Given the description of an element on the screen output the (x, y) to click on. 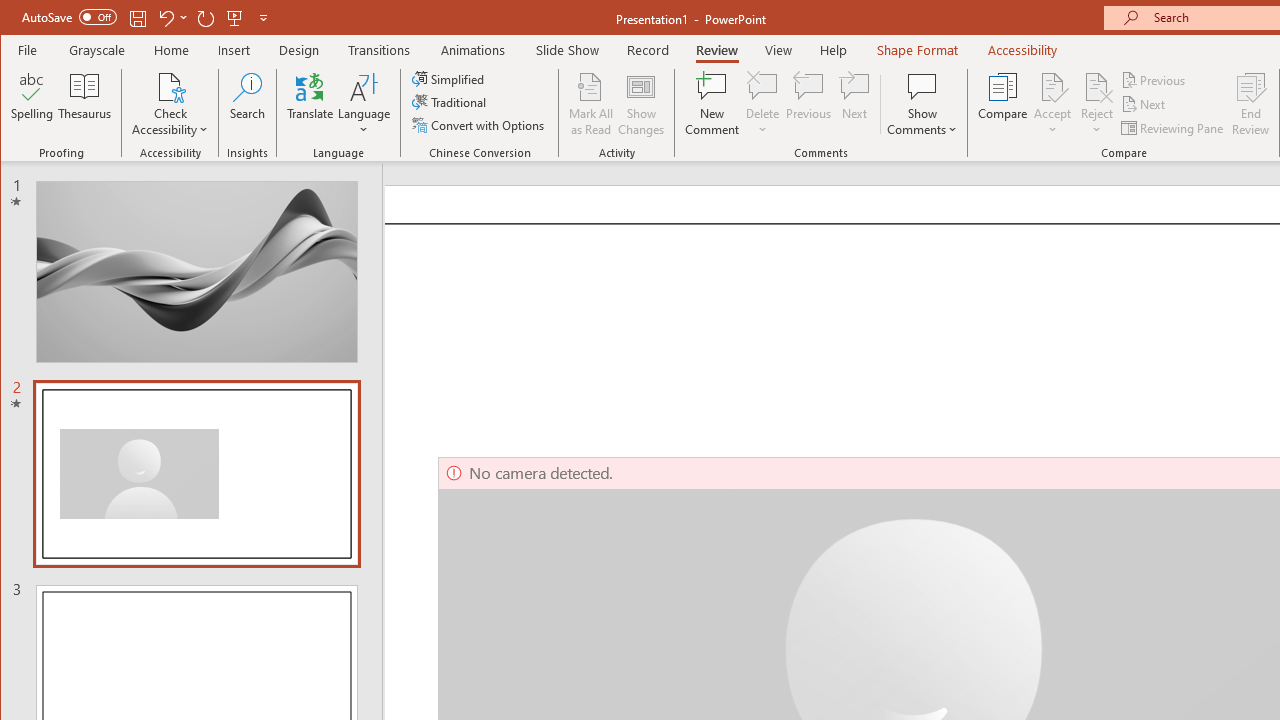
Reject Change (1096, 86)
Traditional (450, 101)
Convert with Options... (479, 124)
Compare (1002, 104)
Thesaurus... (84, 104)
Mark All as Read (591, 104)
